Given the description of an element on the screen output the (x, y) to click on. 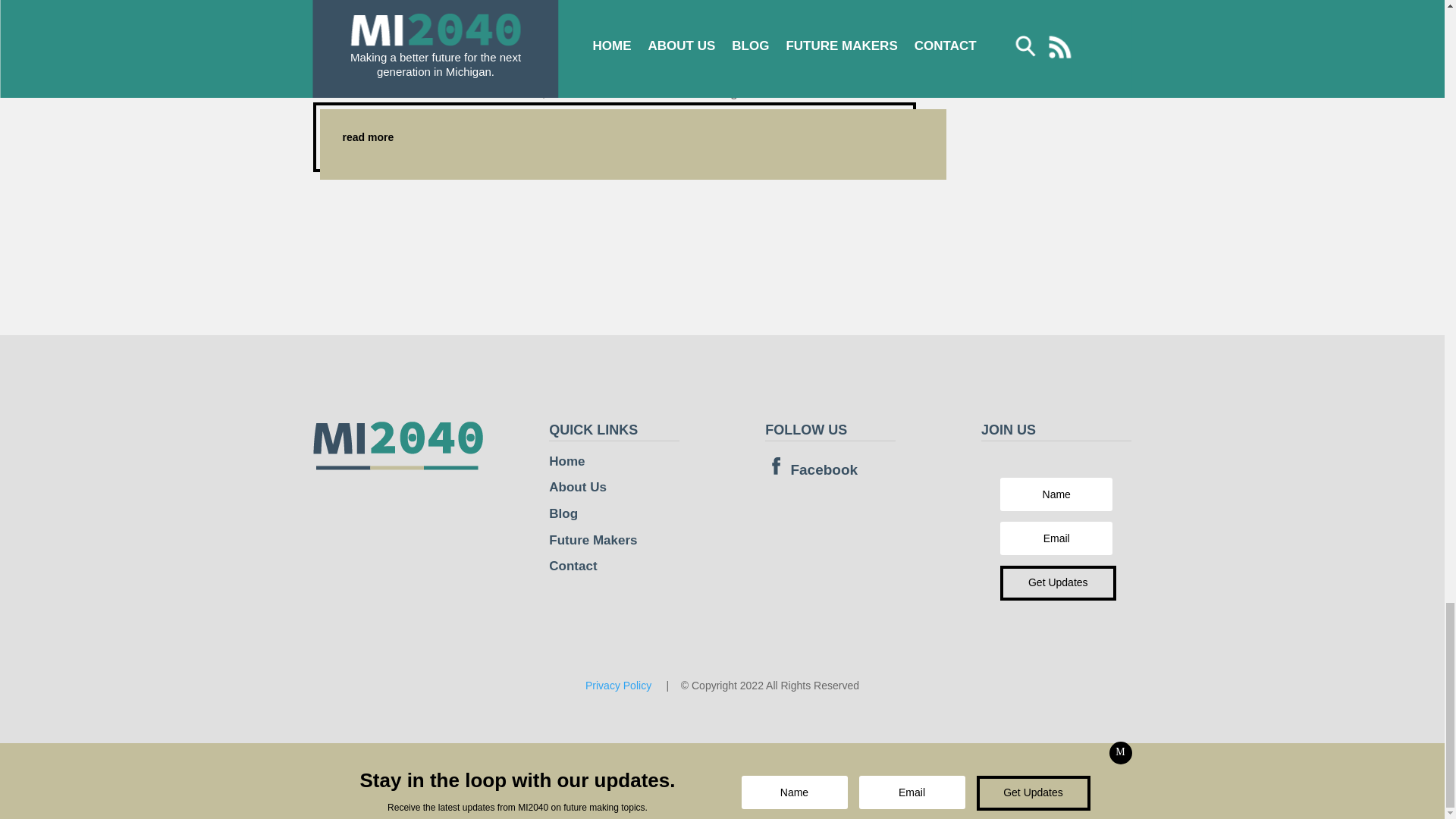
Michigan (541, 52)
Public Safety (612, 52)
Posts by Tom Fehsenfeld (376, 52)
Hope to Stem Gun Violence For The Next Generation (569, 21)
Tom Fehsenfeld (376, 52)
